Given the description of an element on the screen output the (x, y) to click on. 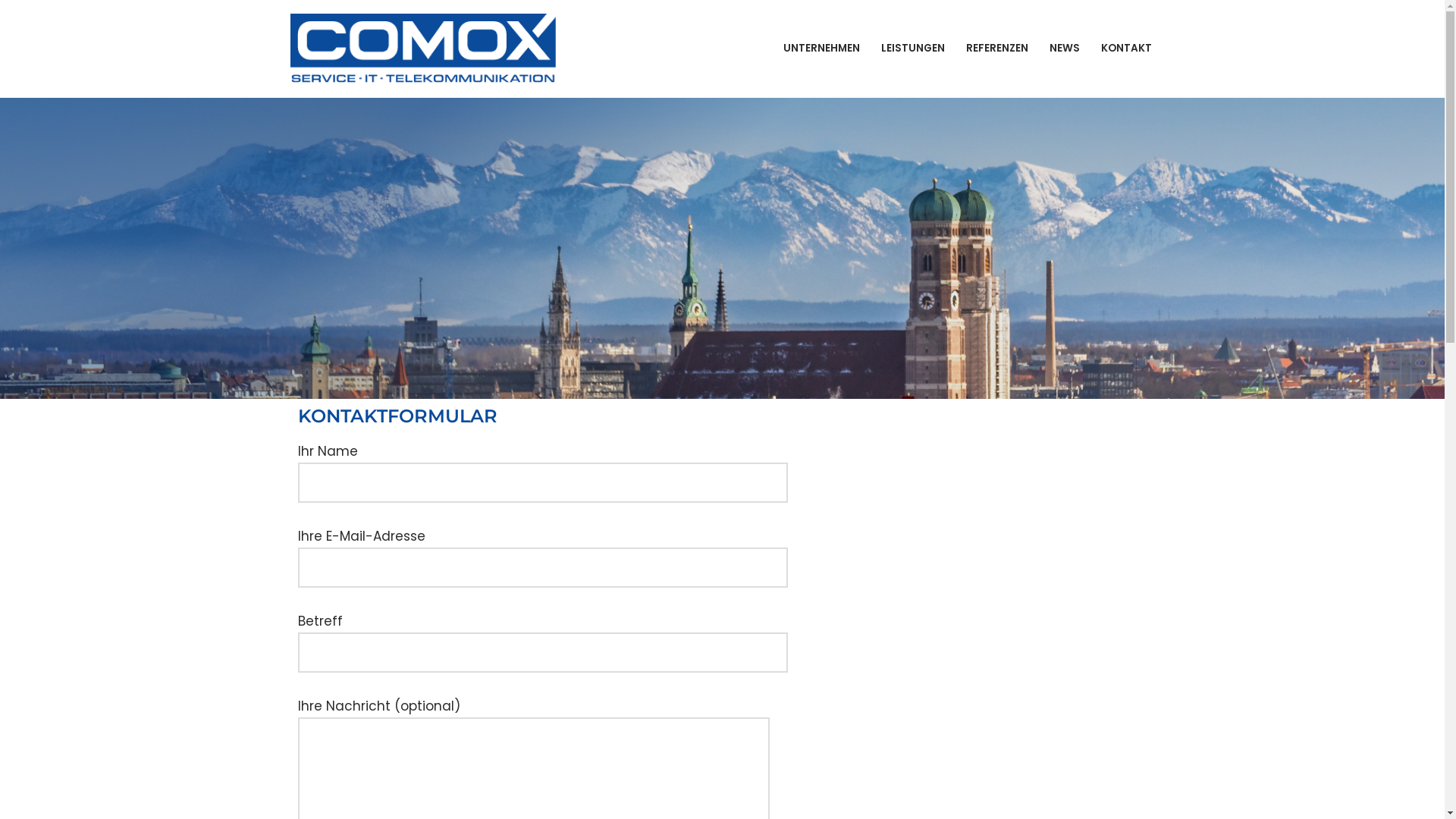
KONTAKT Element type: text (1126, 47)
REFERENZEN Element type: text (997, 47)
Zum Inhalt springen Element type: text (11, 31)
LEISTUNGEN Element type: text (912, 47)
UNTERNEHMEN Element type: text (820, 47)
Comox Business GmbH & Co KG Element type: hover (425, 47)
NEWS Element type: text (1064, 47)
